Given the description of an element on the screen output the (x, y) to click on. 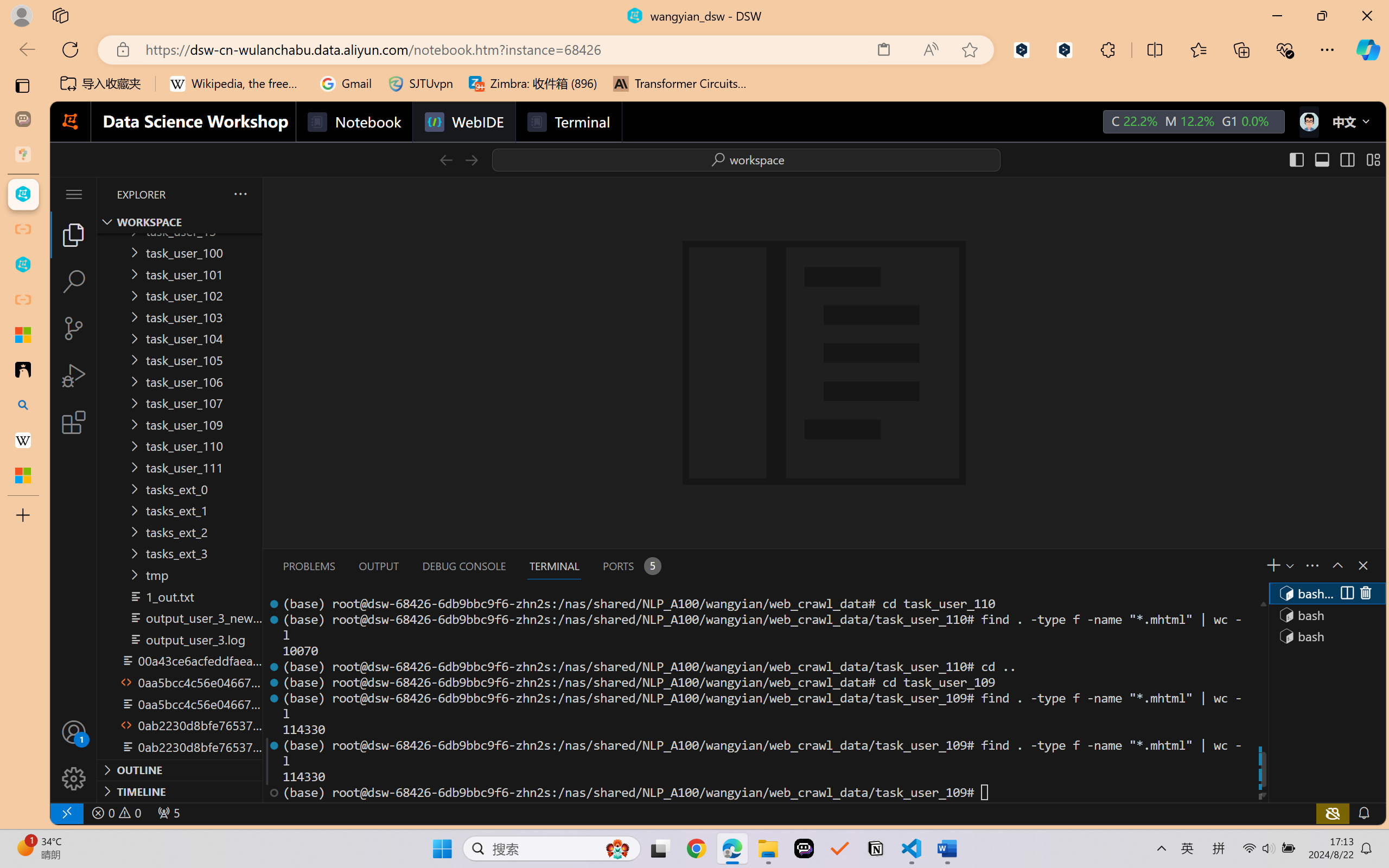
Class: next-menu next-hoz widgets--iconMenu--BFkiHRM (1308, 121)
Outline Section (179, 769)
Title actions (1333, 159)
Terminal (568, 121)
remote (66, 812)
wangyian_webcrawler - DSW (22, 264)
Terminal actions (1000, 565)
Source Control (Ctrl+Shift+G) (73, 328)
Close Panel (1362, 565)
Adjust indents and spacing - Microsoft Support (22, 334)
Terminal 3 bash (1326, 635)
Class: actions-container (1355, 593)
